Given the description of an element on the screen output the (x, y) to click on. 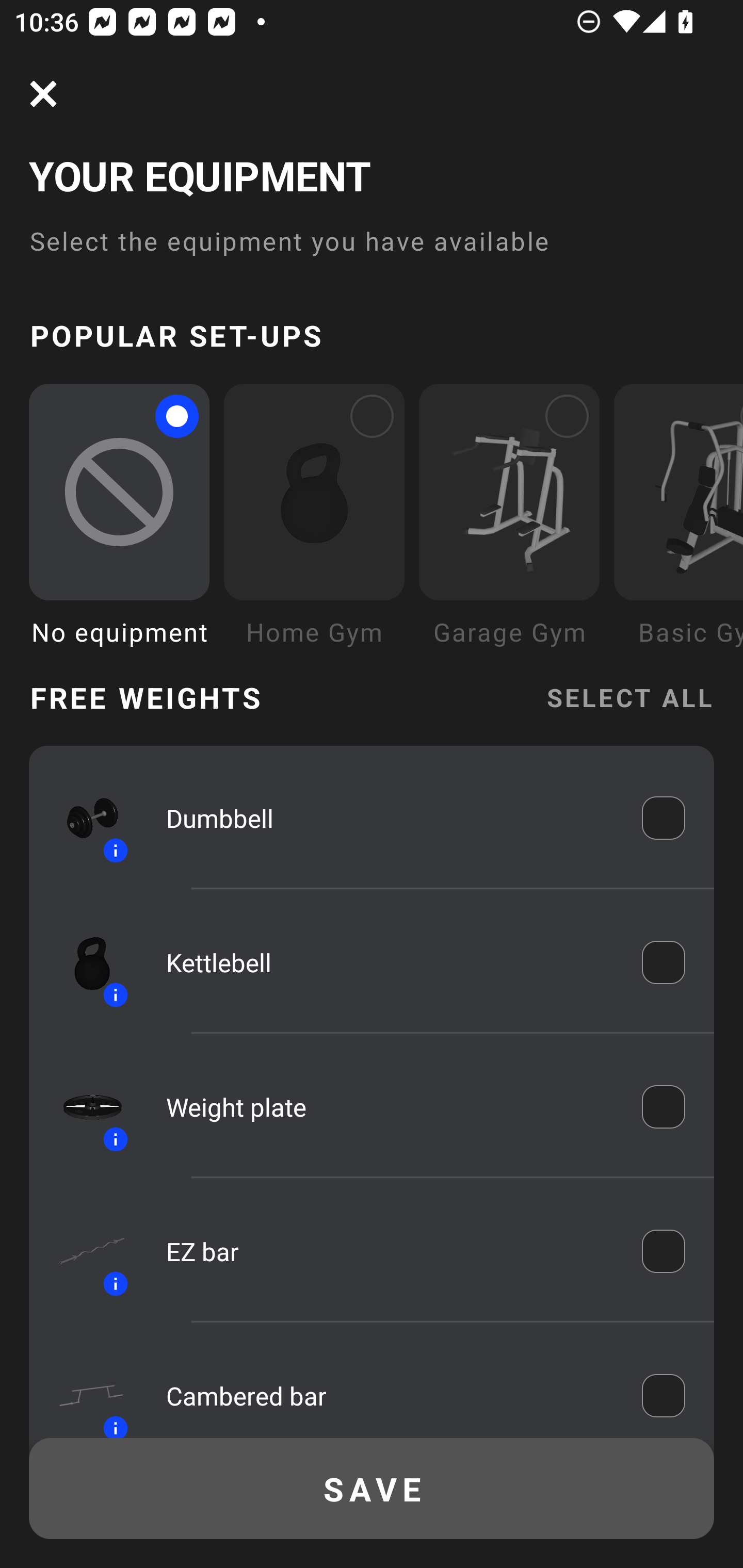
Navigation icon (43, 93)
SELECT ALL (629, 696)
Equipment icon Information icon (82, 817)
Dumbbell (389, 817)
Equipment icon Information icon (82, 961)
Kettlebell (389, 961)
Equipment icon Information icon (82, 1106)
Weight plate (389, 1106)
Equipment icon Information icon (82, 1251)
EZ bar (389, 1251)
Equipment icon Information icon (82, 1389)
Cambered bar (389, 1394)
SAVE (371, 1488)
